Given the description of an element on the screen output the (x, y) to click on. 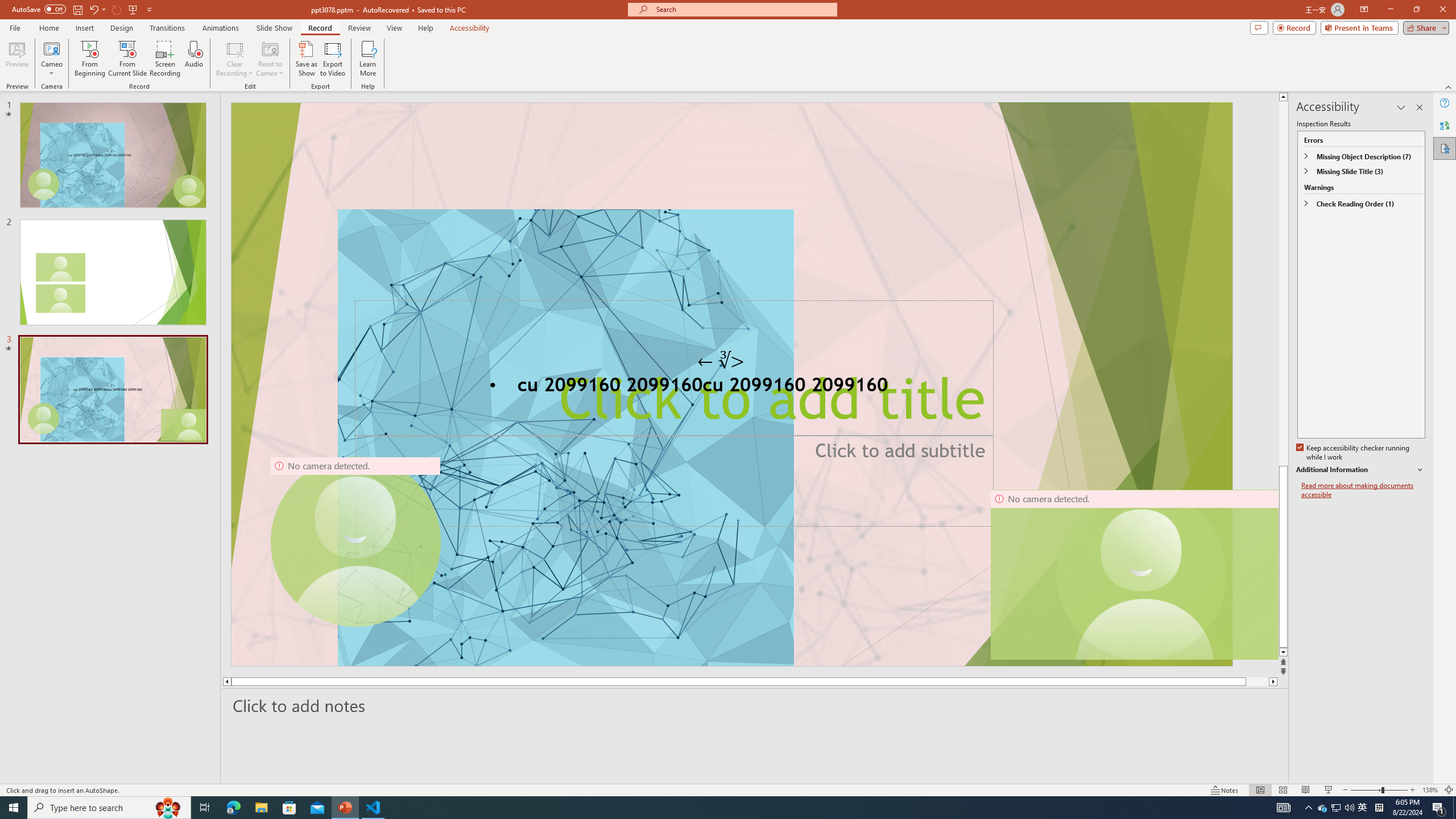
Audio (193, 58)
TextBox 7 (720, 360)
Keep accessibility checker running while I work (1353, 452)
Title TextBox (673, 368)
Save as Show (306, 58)
From Current Slide... (127, 58)
